Given the description of an element on the screen output the (x, y) to click on. 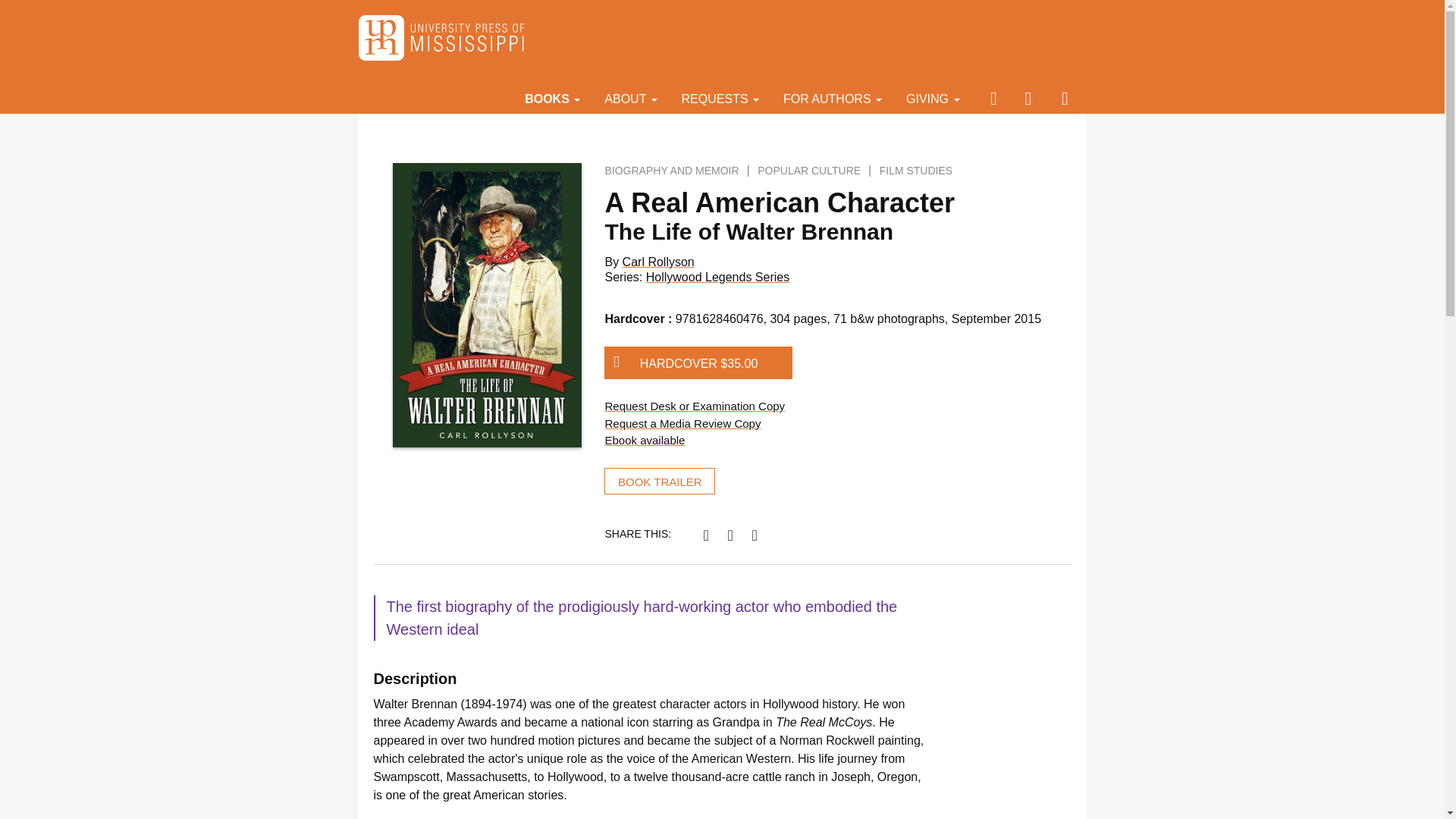
ABOUT (630, 97)
FOR AUTHORS (832, 97)
REQUESTS (720, 97)
BOOKS (552, 97)
